Given the description of an element on the screen output the (x, y) to click on. 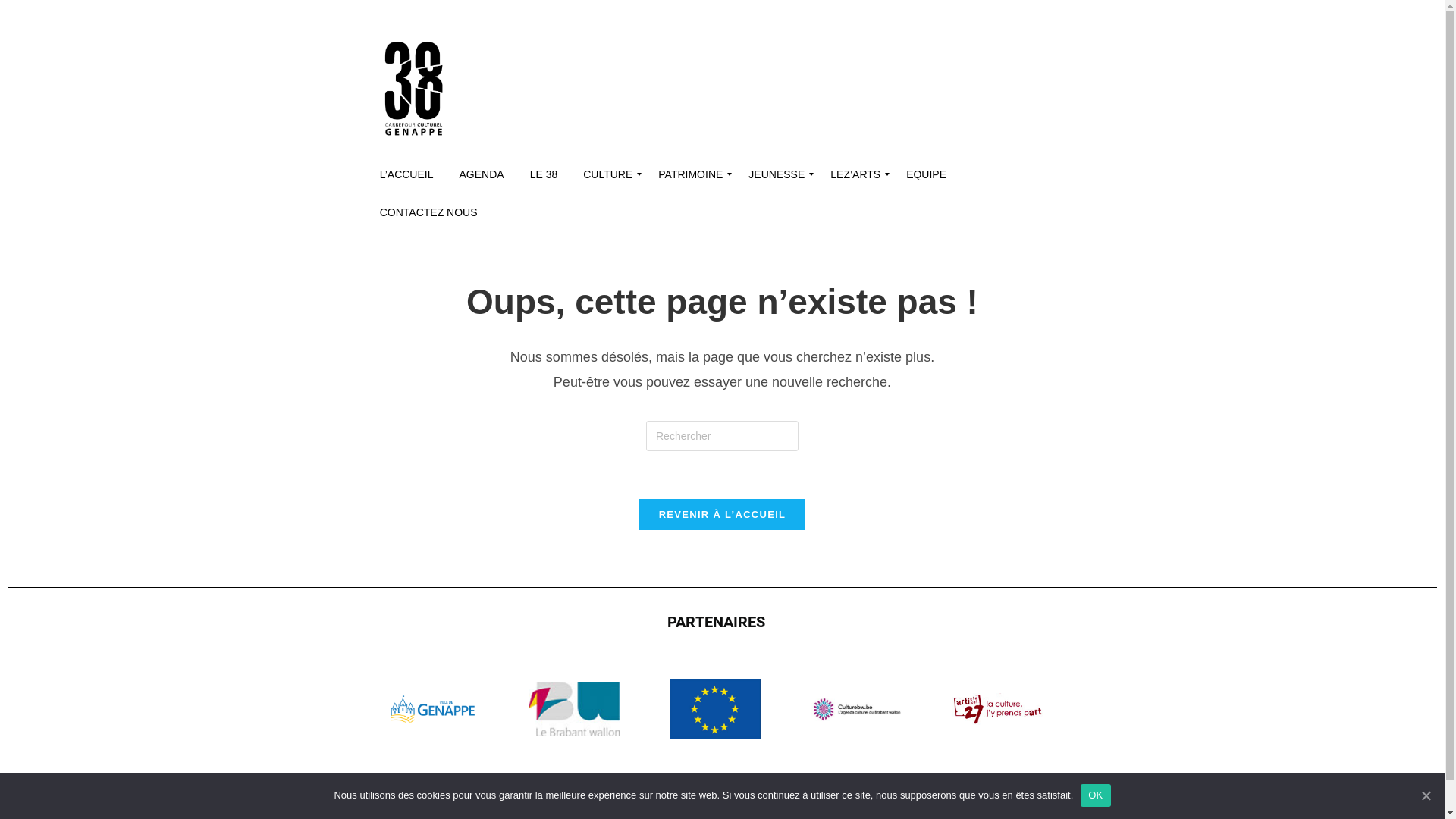
JEUNESSE Element type: text (776, 174)
OK Element type: text (1095, 795)
Article27 Element type: hover (997, 708)
AGENDA Element type: text (480, 174)
CONTACTEZ NOUS Element type: text (428, 212)
PATRIMOINE Element type: text (690, 174)
CULTURE Element type: text (607, 174)
Ville de Genappe Element type: hover (431, 708)
UE Element type: hover (714, 708)
EQUIPE Element type: text (926, 174)
LE 38 Element type: text (544, 174)
Le Brabant Wallon Element type: hover (573, 708)
Agenda culturel Element type: hover (855, 709)
